Given the description of an element on the screen output the (x, y) to click on. 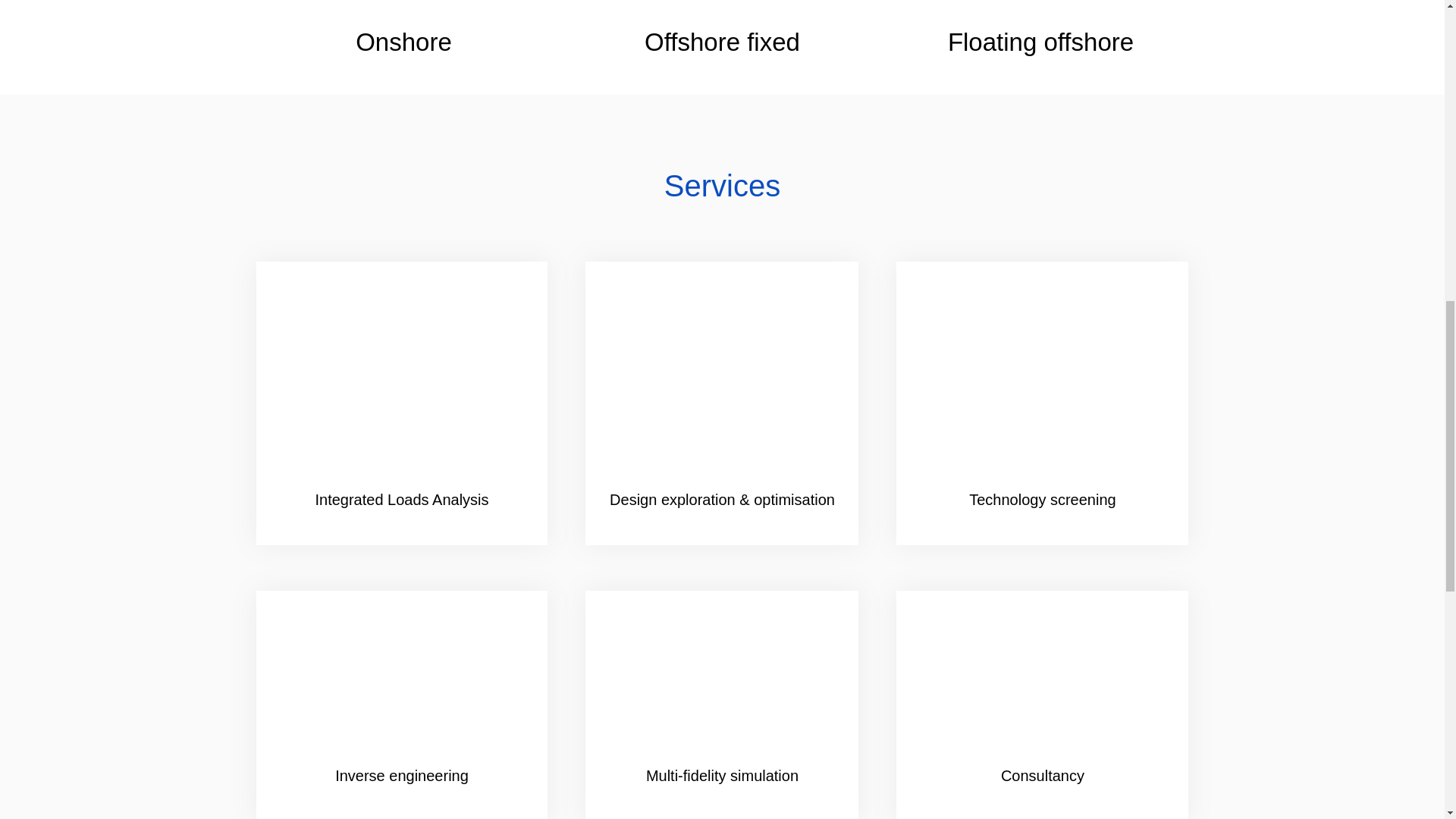
Screening (1042, 386)
Onshore (403, 11)
Floating offshore (1040, 11)
Consultancy (1042, 688)
DesignOptimisation (721, 386)
Multi-fidelity simulation (721, 688)
ILA (401, 386)
InverseEngineering (401, 688)
Offshore fixed (721, 11)
